Given the description of an element on the screen output the (x, y) to click on. 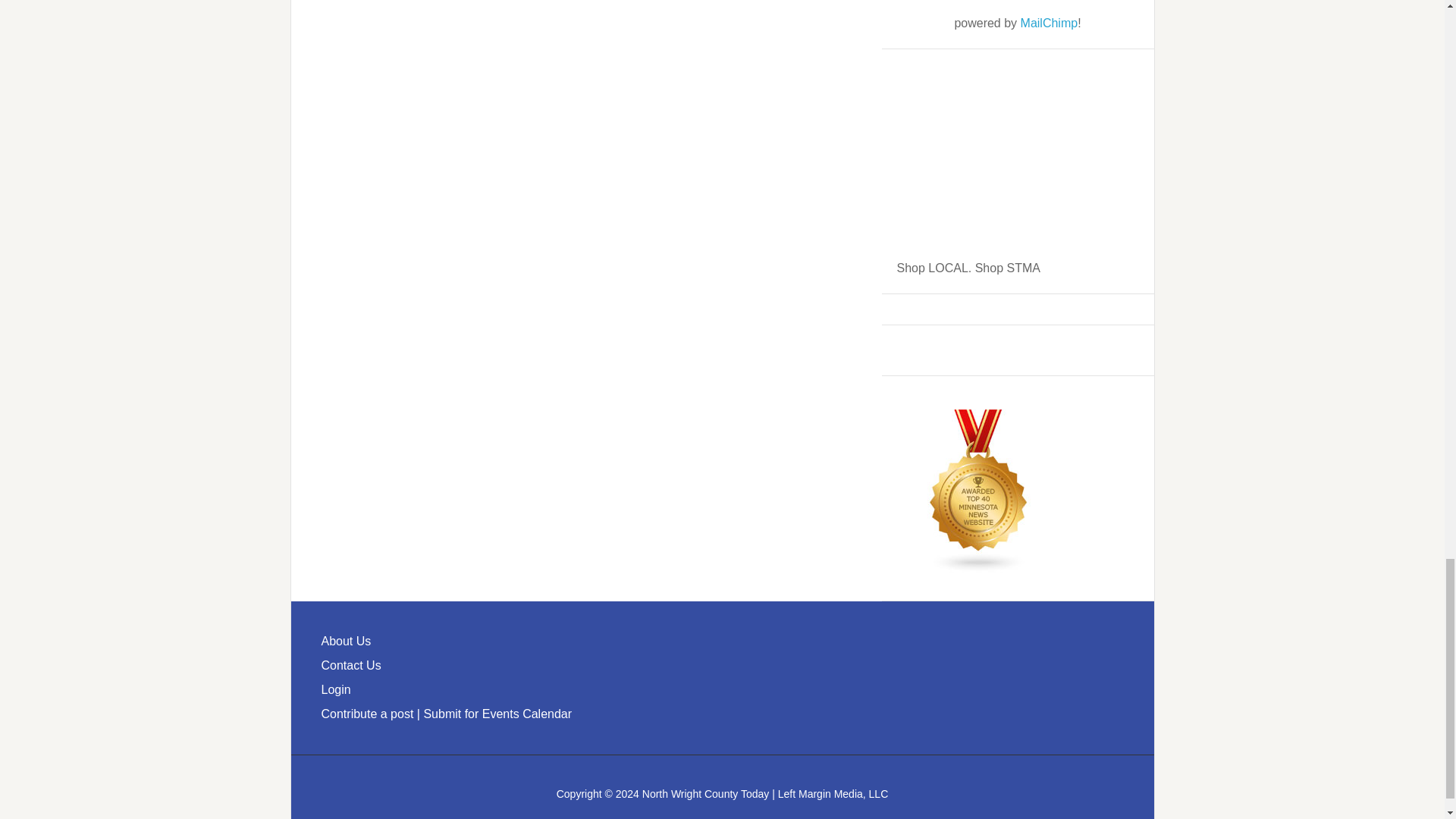
Submit for Events Calendar (497, 713)
Contact Us (351, 665)
Login (335, 689)
MailChimp (1049, 22)
Contribute a post (367, 713)
About Us (346, 640)
